Given the description of an element on the screen output the (x, y) to click on. 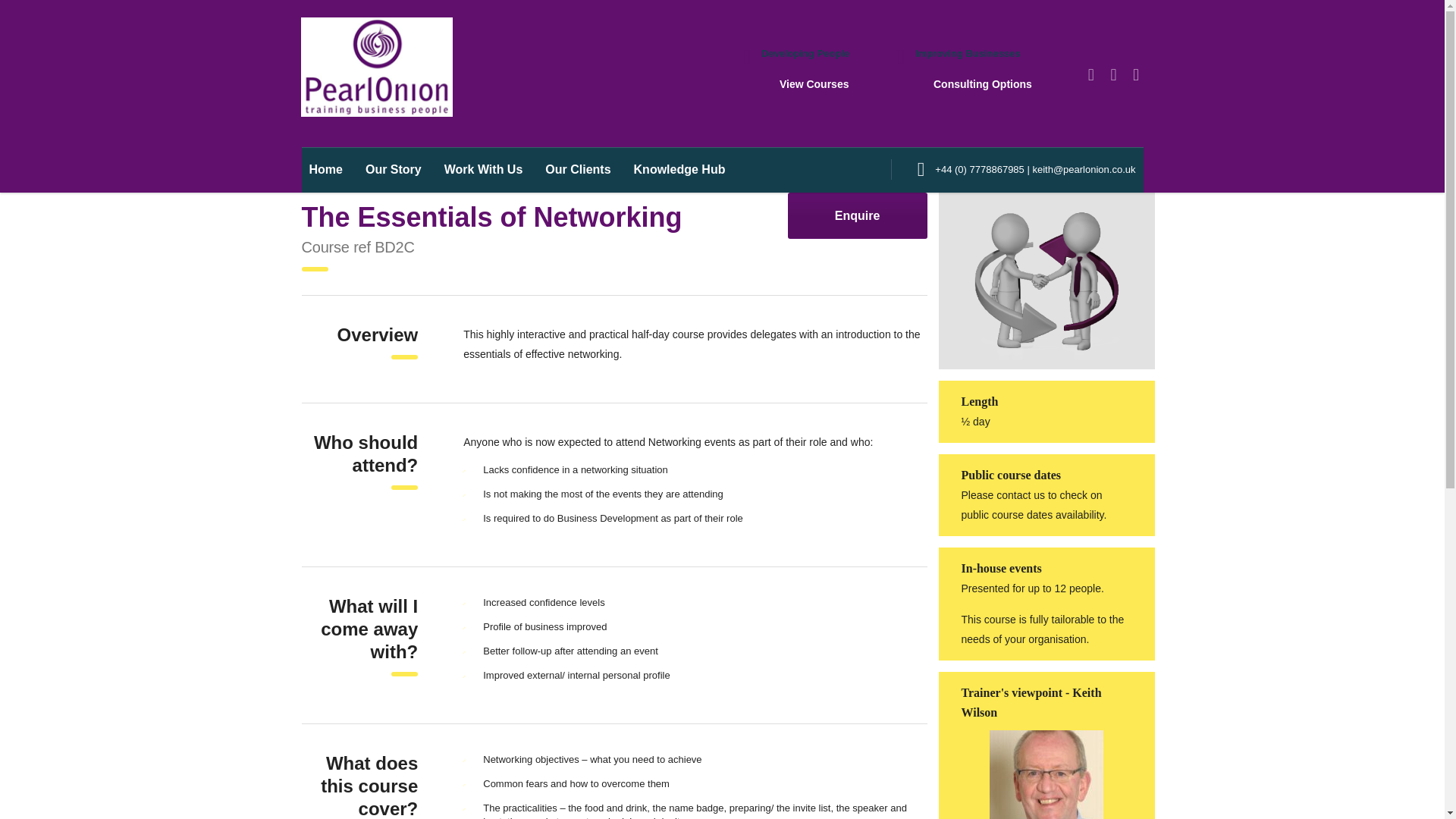
Our Story (392, 169)
Consulting Options (982, 84)
Work With Us (483, 169)
Enquire (857, 215)
Home (330, 169)
Enquire (857, 215)
webphotokeith-10--150x150 (1046, 774)
effective networking (1046, 280)
Knowledge Hub (674, 169)
Our Clients (577, 169)
View Courses (814, 84)
